Given the description of an element on the screen output the (x, y) to click on. 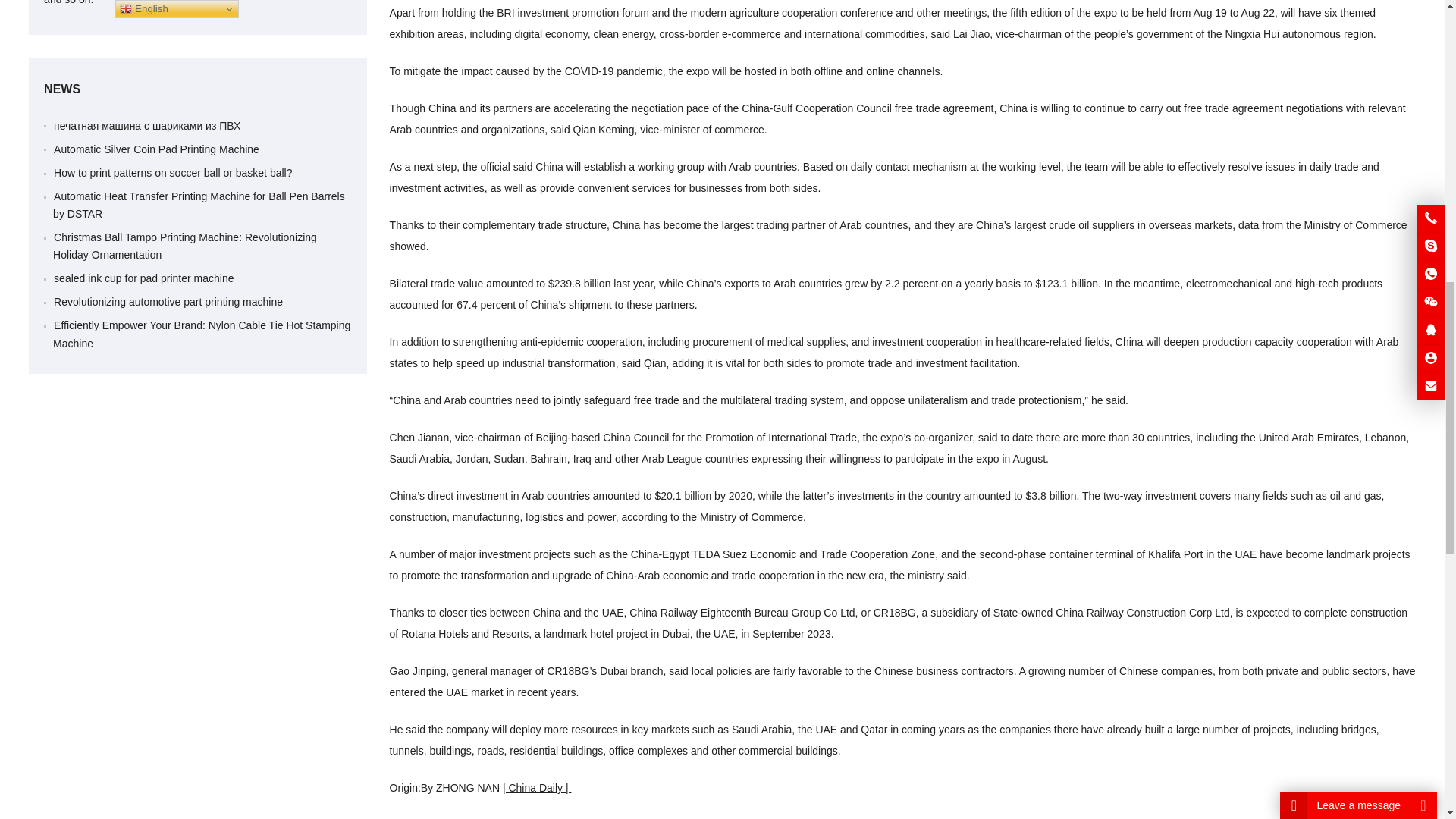
News (196, 89)
